Given the description of an element on the screen output the (x, y) to click on. 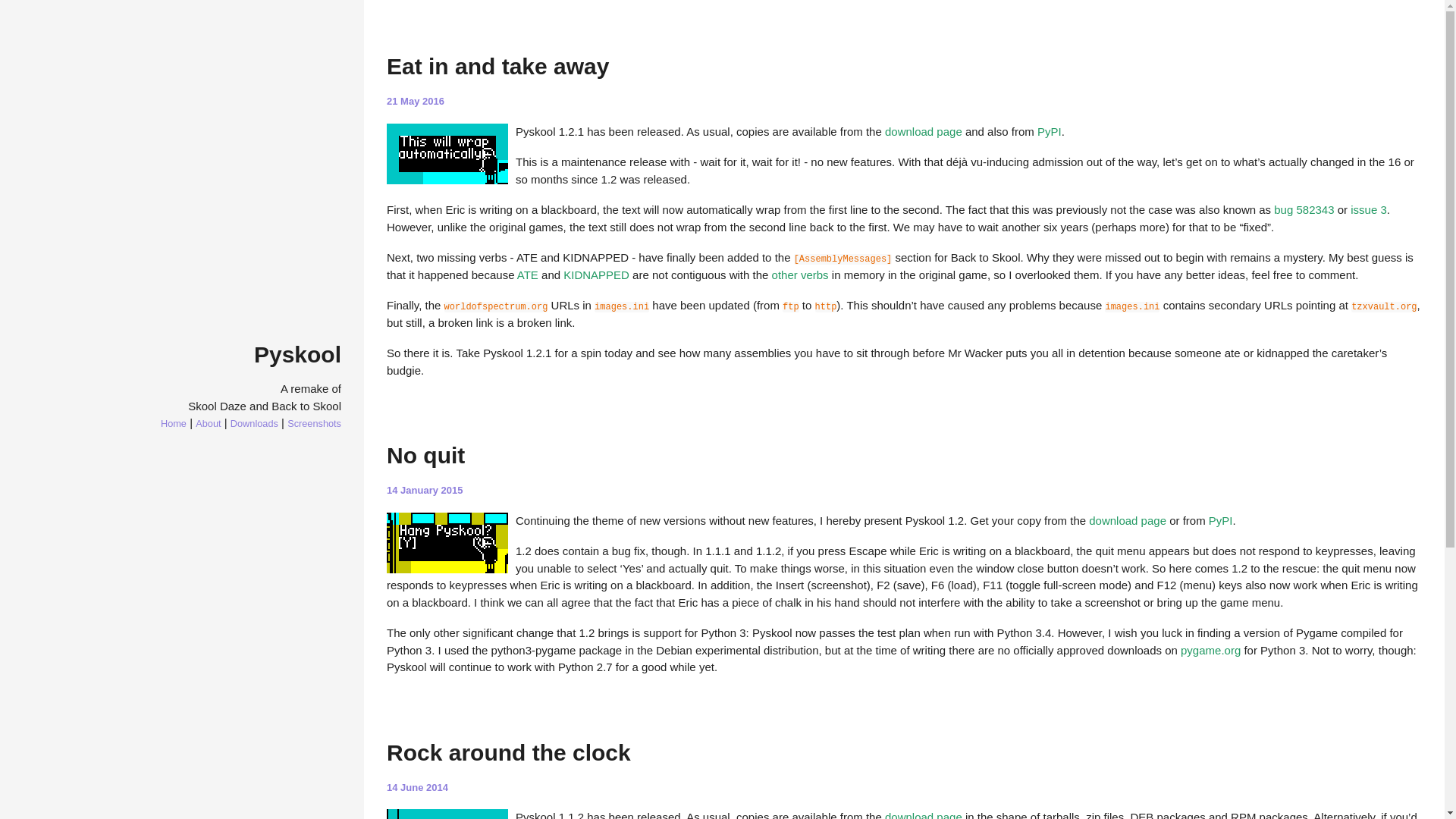
PyPI (1220, 520)
KIDNAPPED (595, 274)
bug 582343 (1303, 209)
pygame.org (1210, 649)
Screenshots (313, 423)
download page (1127, 520)
No quit (425, 455)
Eat in and take away (497, 66)
issue 3 (1369, 209)
download page (923, 130)
other verbs (799, 274)
Home (173, 423)
Downloads (254, 423)
About (208, 423)
Rock around the clock (508, 752)
